Given the description of an element on the screen output the (x, y) to click on. 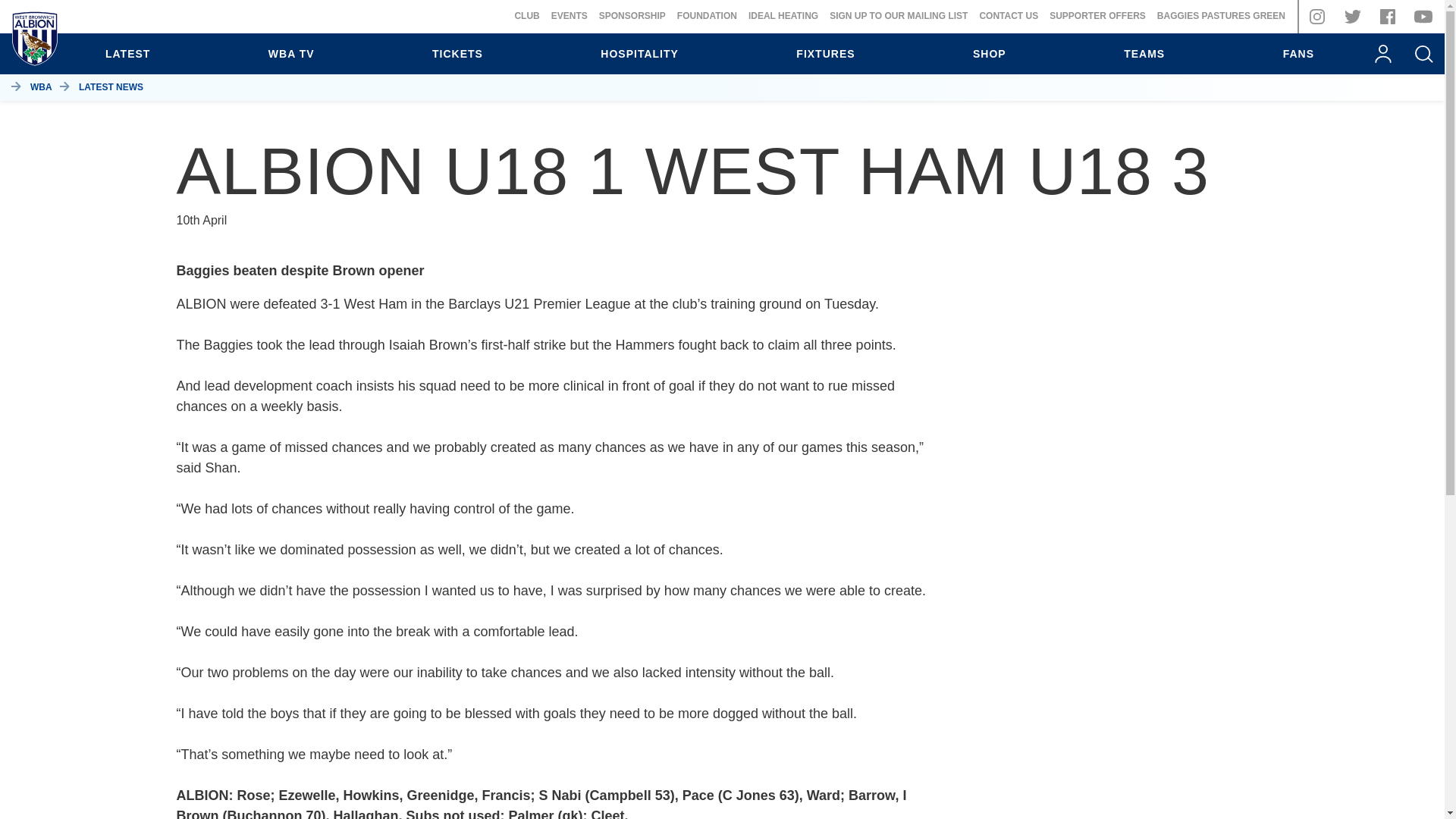
EVENTS (569, 15)
CONTACT US (1008, 15)
IDEAL HEATING (783, 15)
SPONSORSHIP (631, 15)
The Albion Foundation (706, 15)
CLUB (525, 15)
Latest (127, 53)
SIGN UP TO OUR MAILING LIST (898, 15)
FOUNDATION (706, 15)
